Given the description of an element on the screen output the (x, y) to click on. 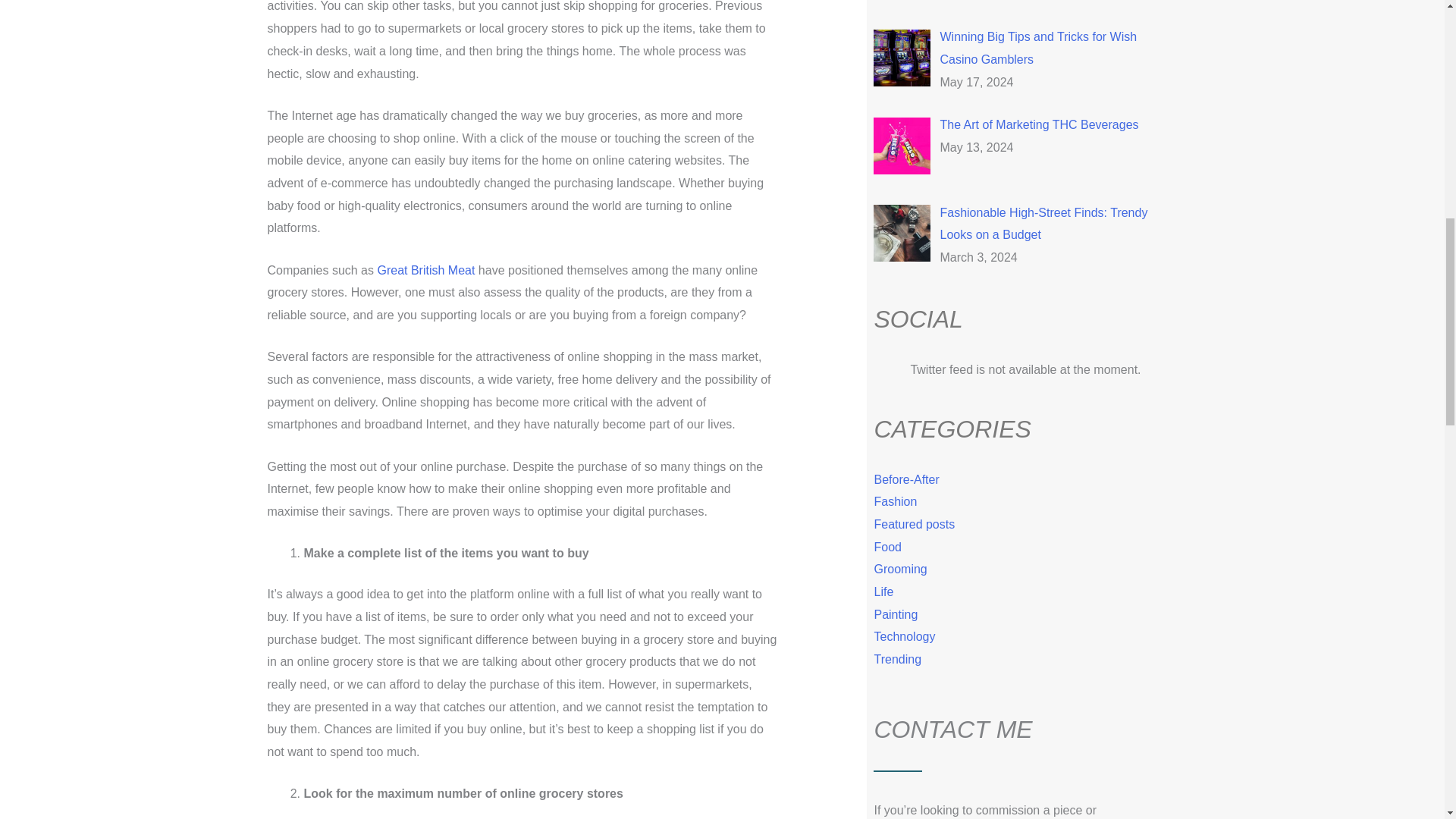
Grooming (899, 568)
Fashion (895, 501)
Technology (903, 635)
Great British Meat (425, 269)
Winning Big Tips and Tricks for Wish Casino Gamblers (1038, 48)
Fashionable High-Street Finds: Trendy Looks on a Budget (1043, 223)
Painting (895, 614)
Featured posts (914, 523)
Life (883, 591)
Food (887, 546)
